Given the description of an element on the screen output the (x, y) to click on. 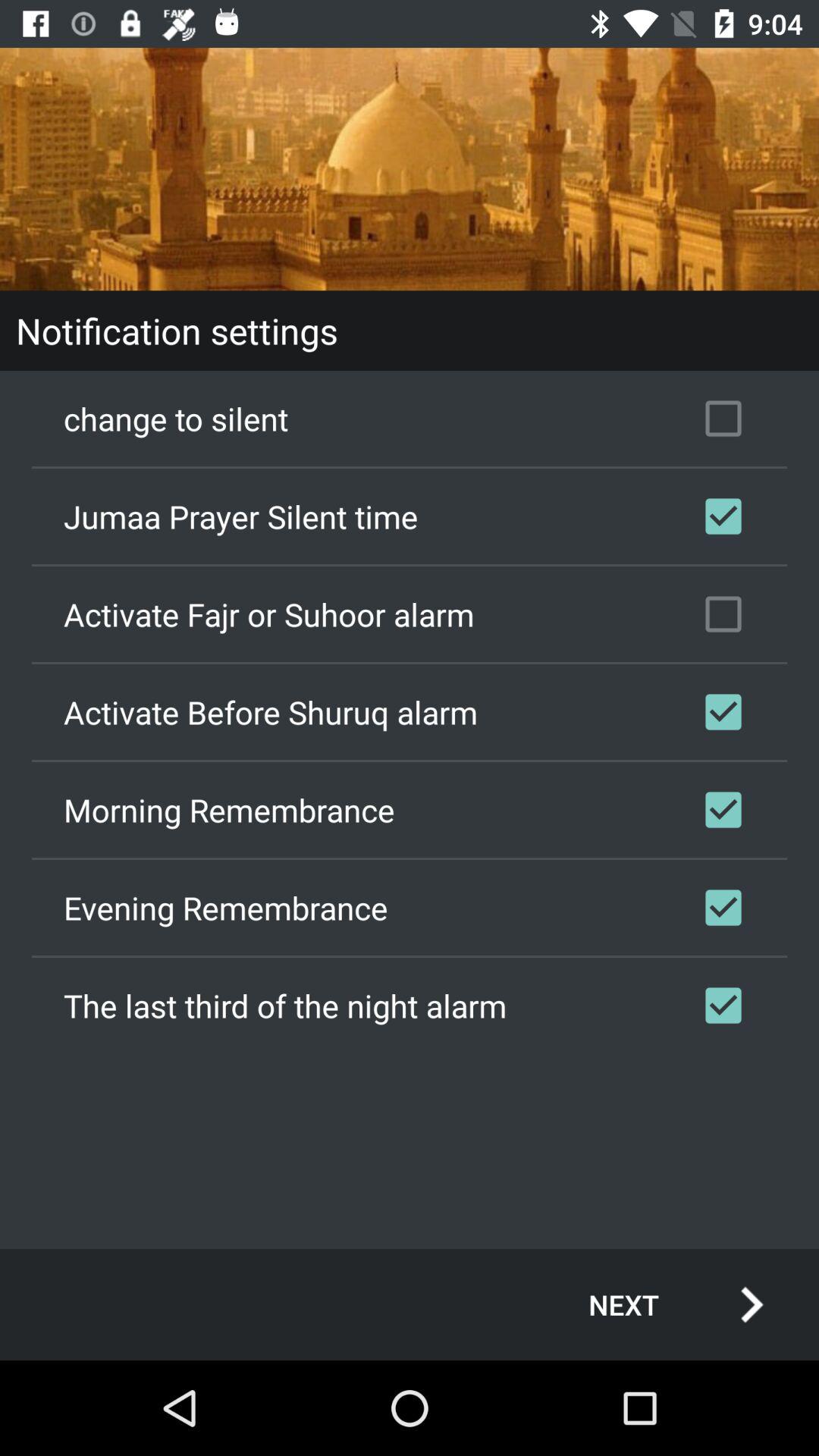
turn on checkbox above activate before shuruq icon (409, 614)
